Given the description of an element on the screen output the (x, y) to click on. 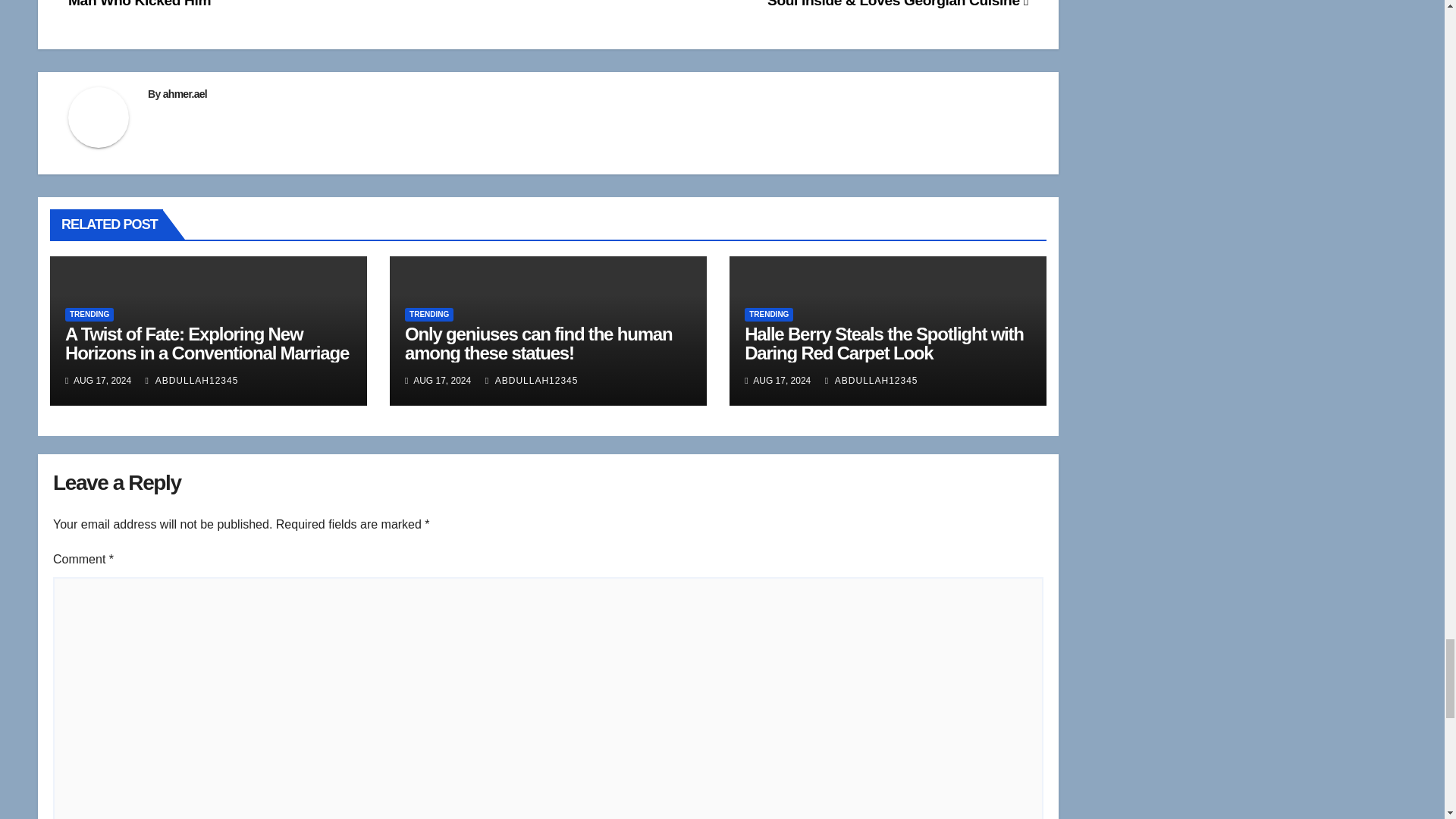
TRENDING (89, 314)
TRENDING (428, 314)
ABDULLAH12345 (191, 380)
Only geniuses can find the human among these statues! (537, 343)
ahmer.ael (184, 93)
